Given the description of an element on the screen output the (x, y) to click on. 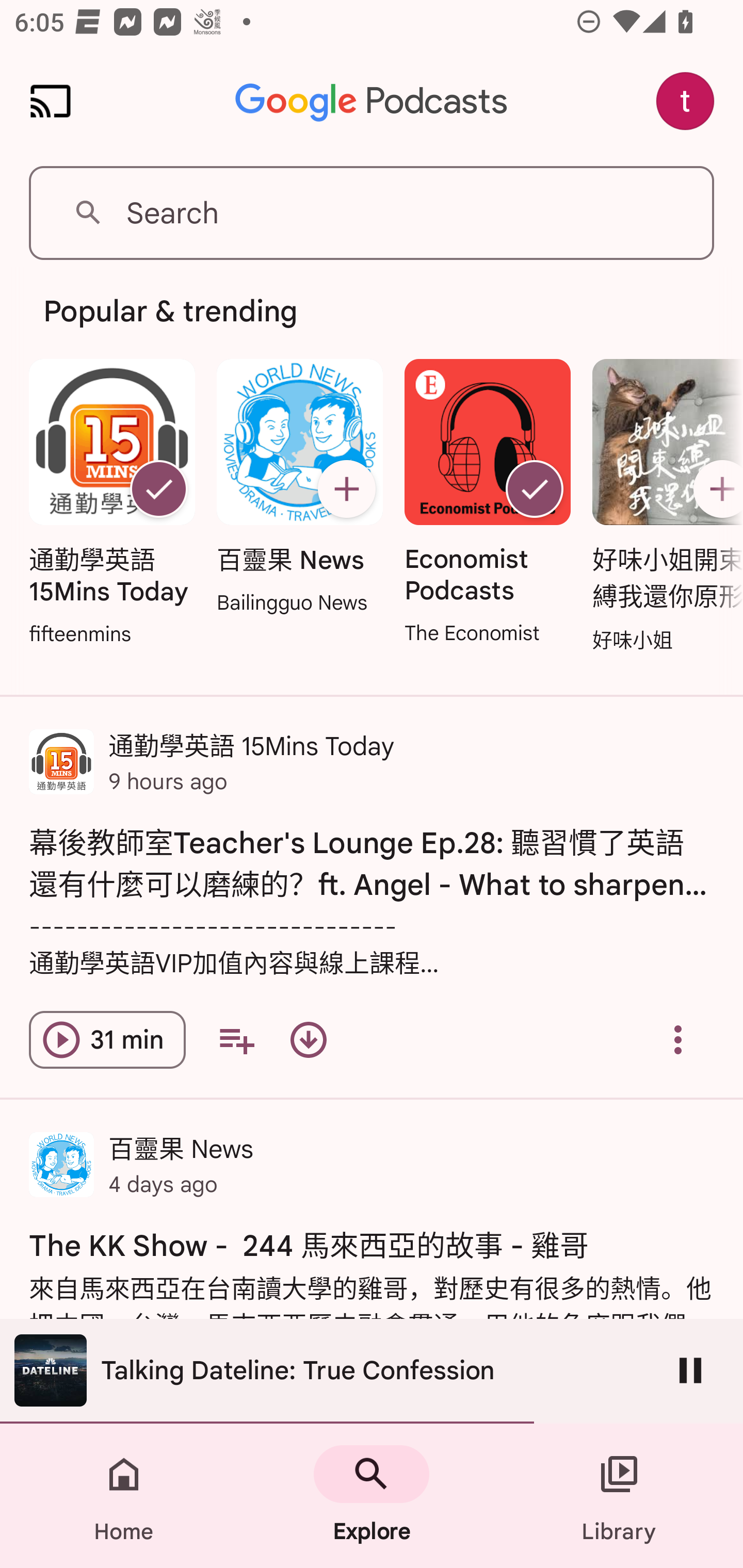
Cast. Disconnected (50, 101)
Search (371, 212)
百靈果 News Subscribe 百靈果 News Bailingguo News (299, 488)
好味小姐開束縛我還你原形 Subscribe 好味小姐開束縛我還你原形 好味小姐 (662, 507)
Unsubscribe (158, 489)
Subscribe (346, 489)
Unsubscribe (534, 489)
Subscribe (714, 489)
Add to your queue (235, 1040)
Download episode (308, 1040)
Overflow menu (677, 1040)
Pause (690, 1370)
Home (123, 1495)
Library (619, 1495)
